Given the description of an element on the screen output the (x, y) to click on. 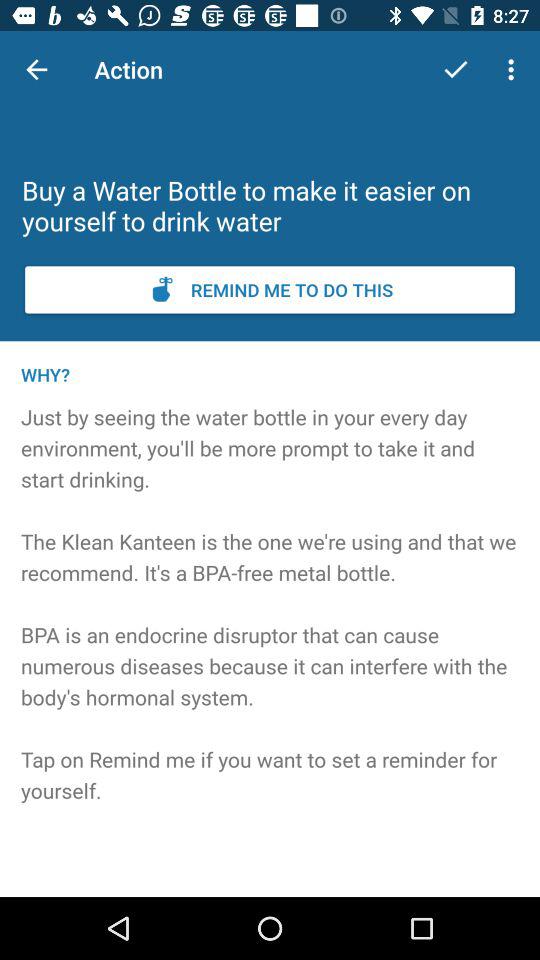
launch the item above why? icon (269, 289)
